Given the description of an element on the screen output the (x, y) to click on. 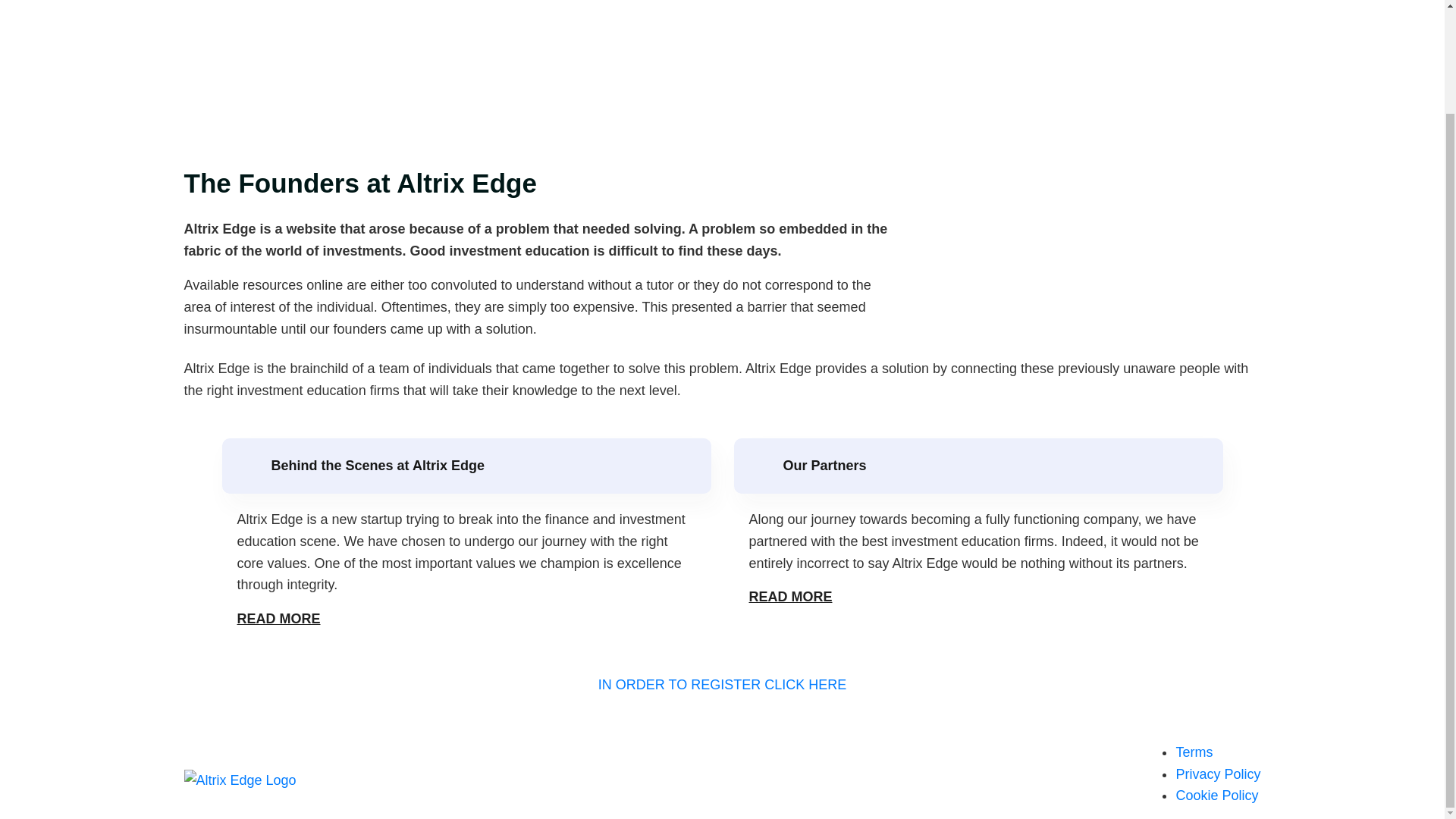
Terms (1193, 752)
Cookie Policy (1215, 795)
Privacy Policy (1217, 774)
IN ORDER TO REGISTER CLICK HERE (721, 684)
